Given the description of an element on the screen output the (x, y) to click on. 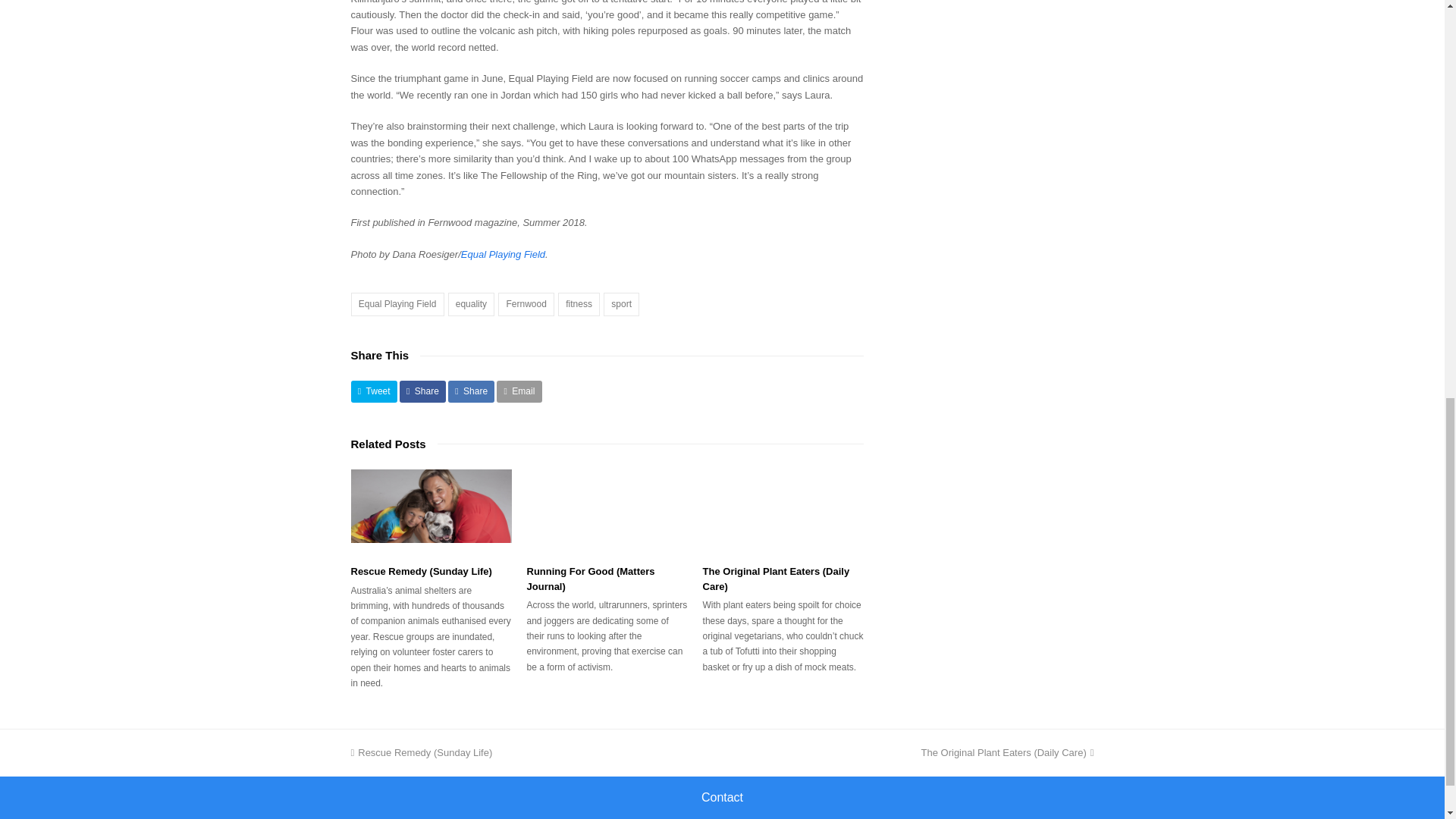
sport (621, 304)
fitness (578, 304)
Share (421, 391)
Equal Playing Field (502, 254)
equality (471, 304)
Email (518, 391)
Equal Playing Field (397, 304)
Tweet (373, 391)
Fernwood (525, 304)
Share (471, 391)
